Given the description of an element on the screen output the (x, y) to click on. 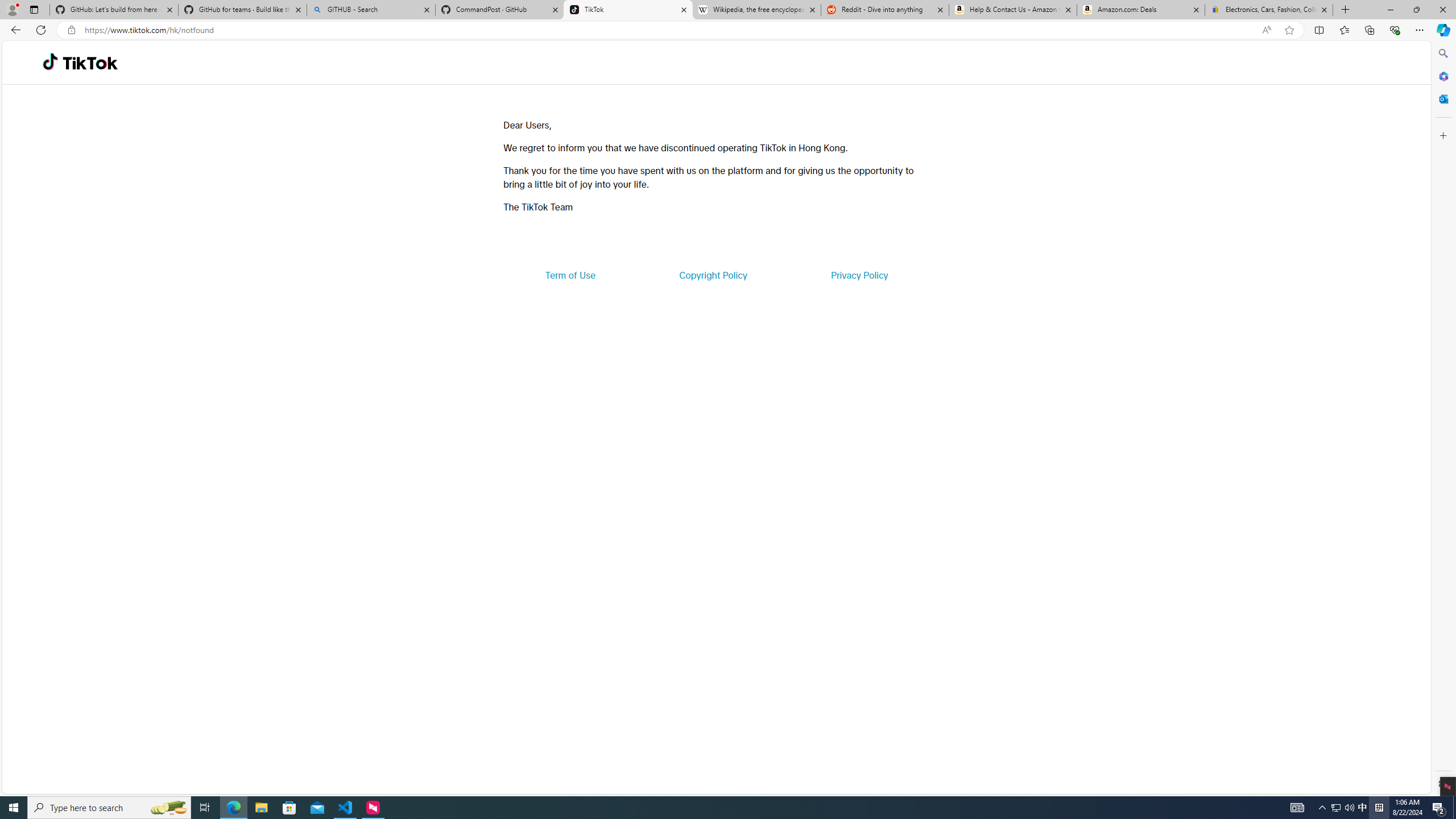
Favorites (1344, 29)
Back (13, 29)
Term of Use (569, 274)
Copyright Policy (712, 274)
Search (1442, 53)
Tab actions menu (33, 9)
Close (1442, 9)
Settings and more (Alt+F) (1419, 29)
Copilot (Ctrl+Shift+.) (1442, 29)
Restore (1416, 9)
GITHUB - Search (370, 9)
Settings (1442, 783)
Microsoft 365 (1442, 76)
Refresh (40, 29)
